Given the description of an element on the screen output the (x, y) to click on. 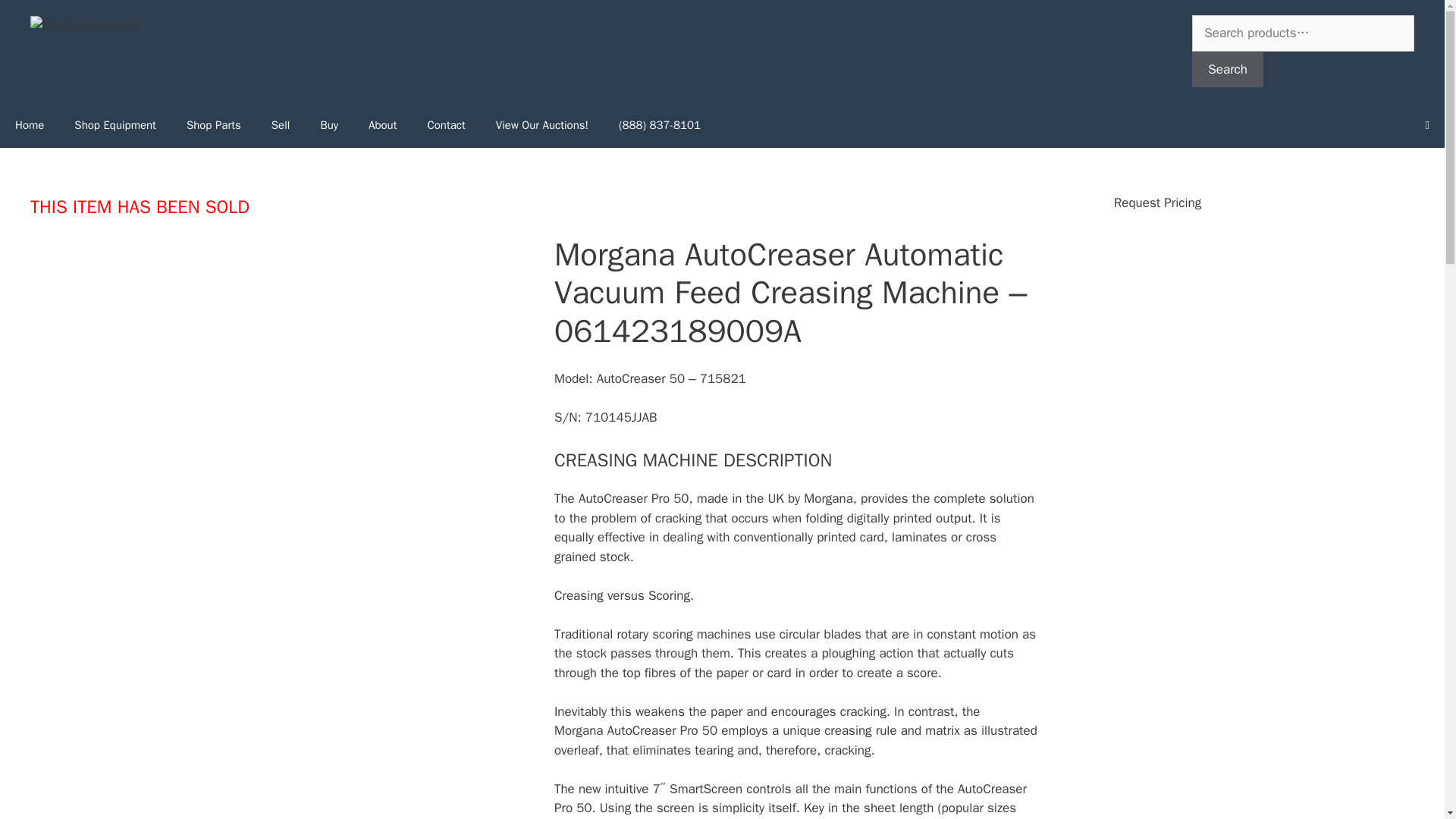
Shop Equipment (115, 125)
Buy (328, 125)
Shop Parts (213, 125)
About (382, 125)
View Our Auctions! (542, 125)
Contact (446, 125)
Search (1227, 69)
Sell (280, 125)
Home (29, 125)
